Given the description of an element on the screen output the (x, y) to click on. 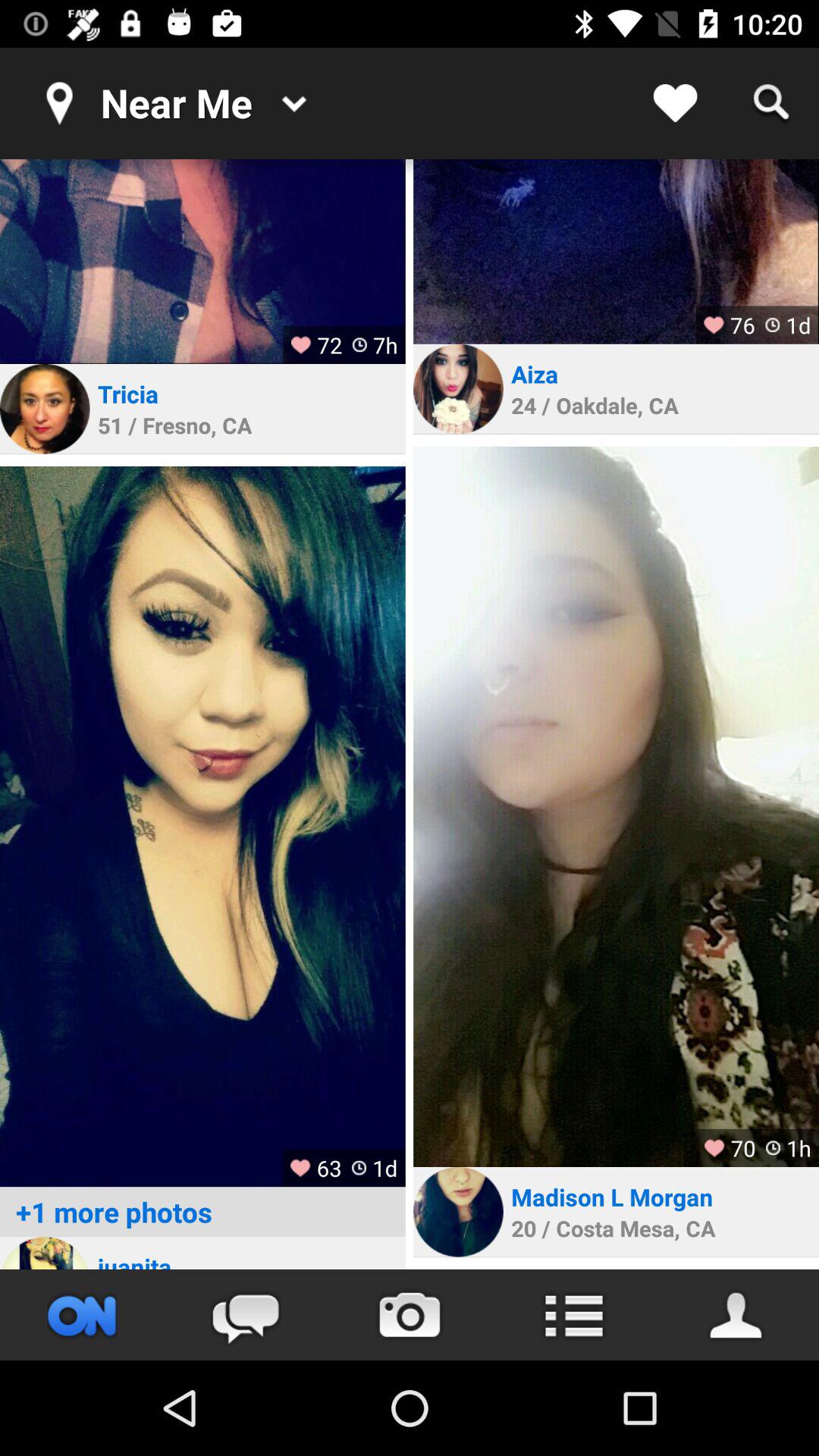
go to camera (409, 1315)
